Given the description of an element on the screen output the (x, y) to click on. 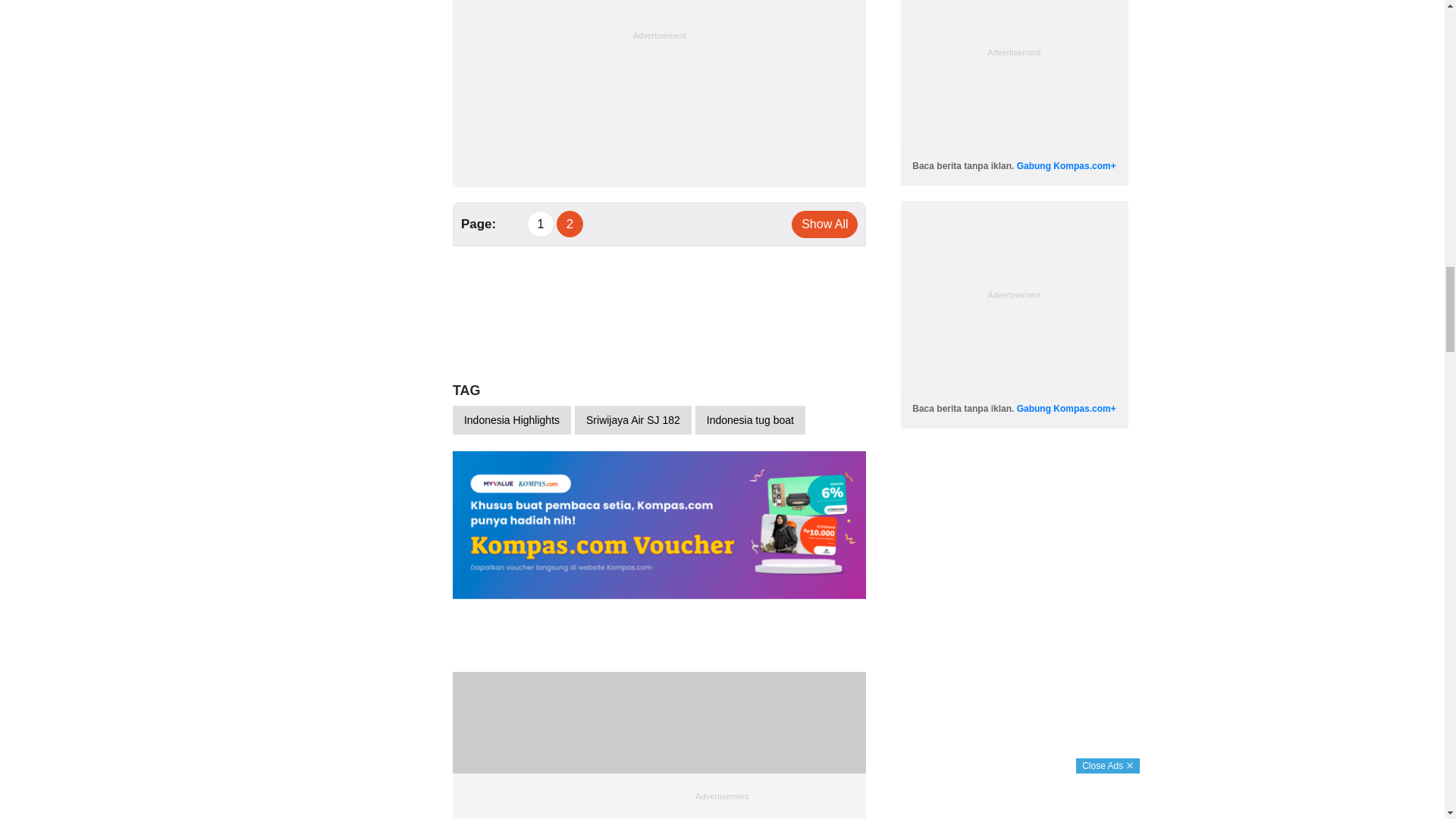
Sriwijaya Air SJ 182 (633, 419)
Indonesia Highlights (511, 419)
Indonesia tug boat (750, 419)
